Given the description of an element on the screen output the (x, y) to click on. 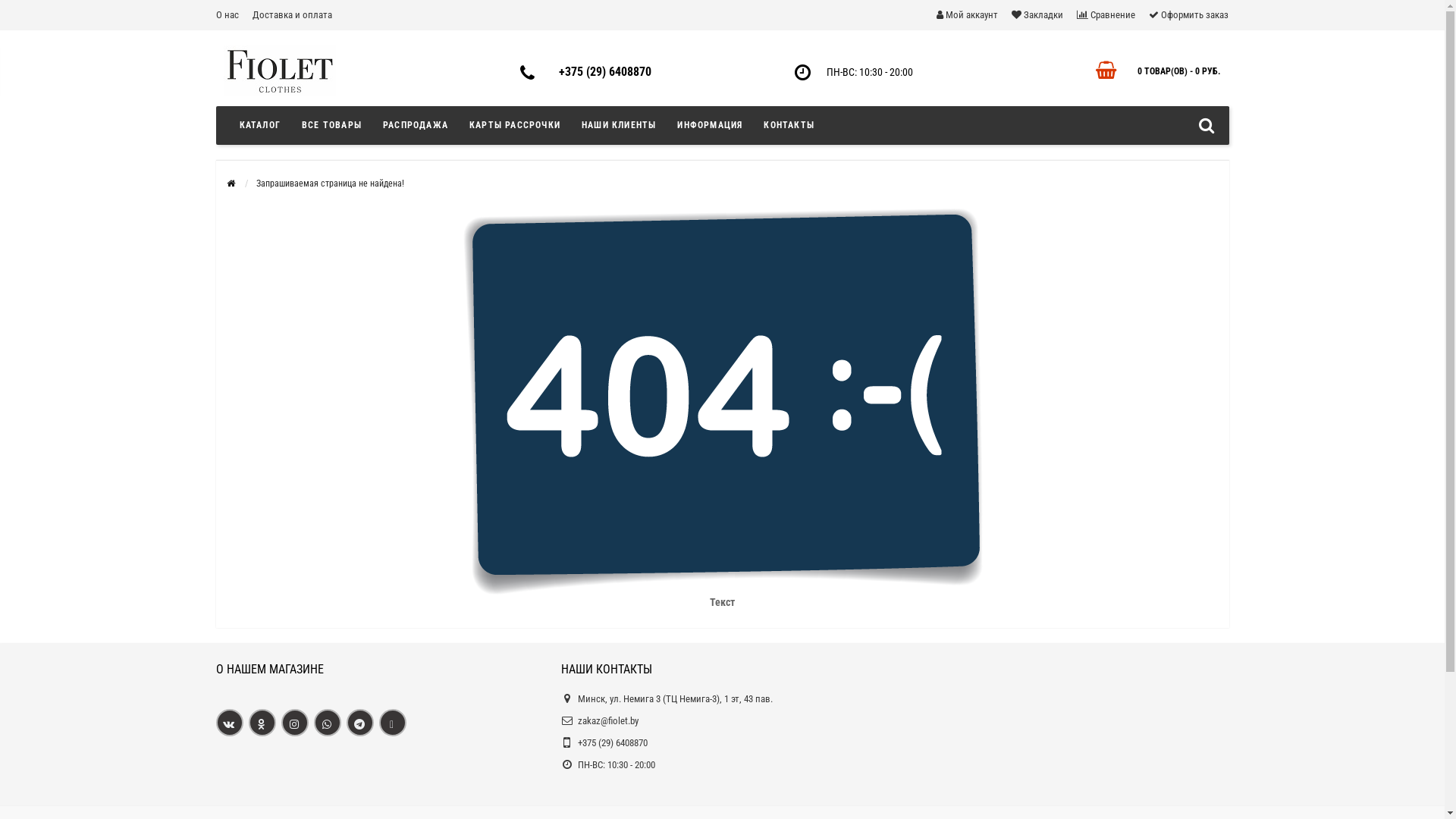
  Element type: text (228, 722)
  Element type: text (359, 722)
Odnoklassniki Element type: hover (262, 722)
Instagram Element type: hover (293, 722)
Vkontakte Element type: hover (228, 722)
Telegram Element type: hover (359, 722)
  Element type: text (293, 722)
zakaz@fiolet.by Element type: text (607, 720)
+375 (29) 6408870 Element type: text (612, 742)
  Element type: text (262, 722)
  Element type: text (392, 722)
Viber Element type: hover (392, 722)
+375 (29) 6408870 Element type: text (604, 71)
  Element type: text (327, 722)
WhatsApp Element type: hover (327, 722)
